Given the description of an element on the screen output the (x, y) to click on. 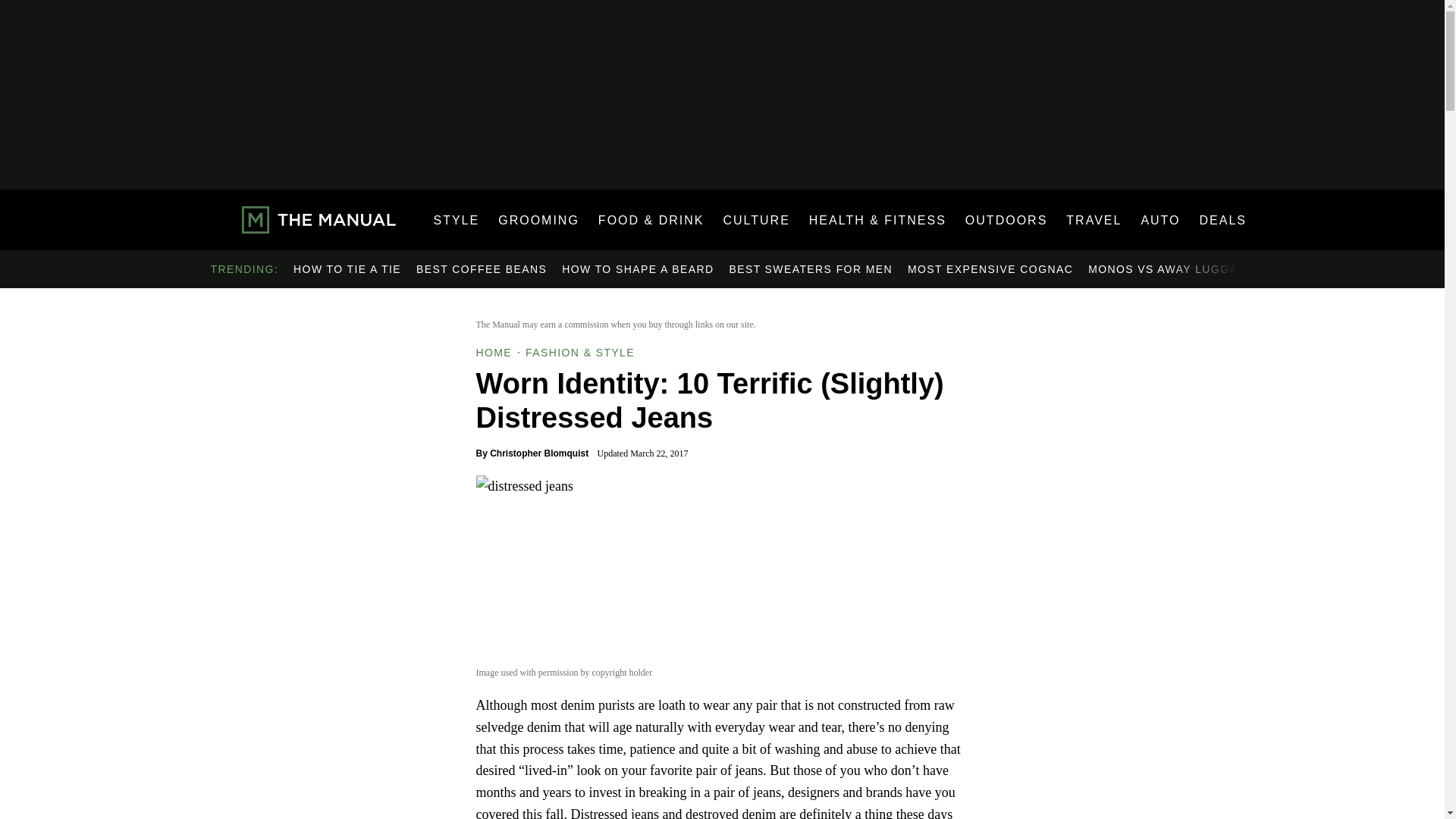
CULTURE (755, 219)
OUTDOORS (1005, 219)
TRAVEL (1093, 219)
GROOMING (538, 219)
